Given the description of an element on the screen output the (x, y) to click on. 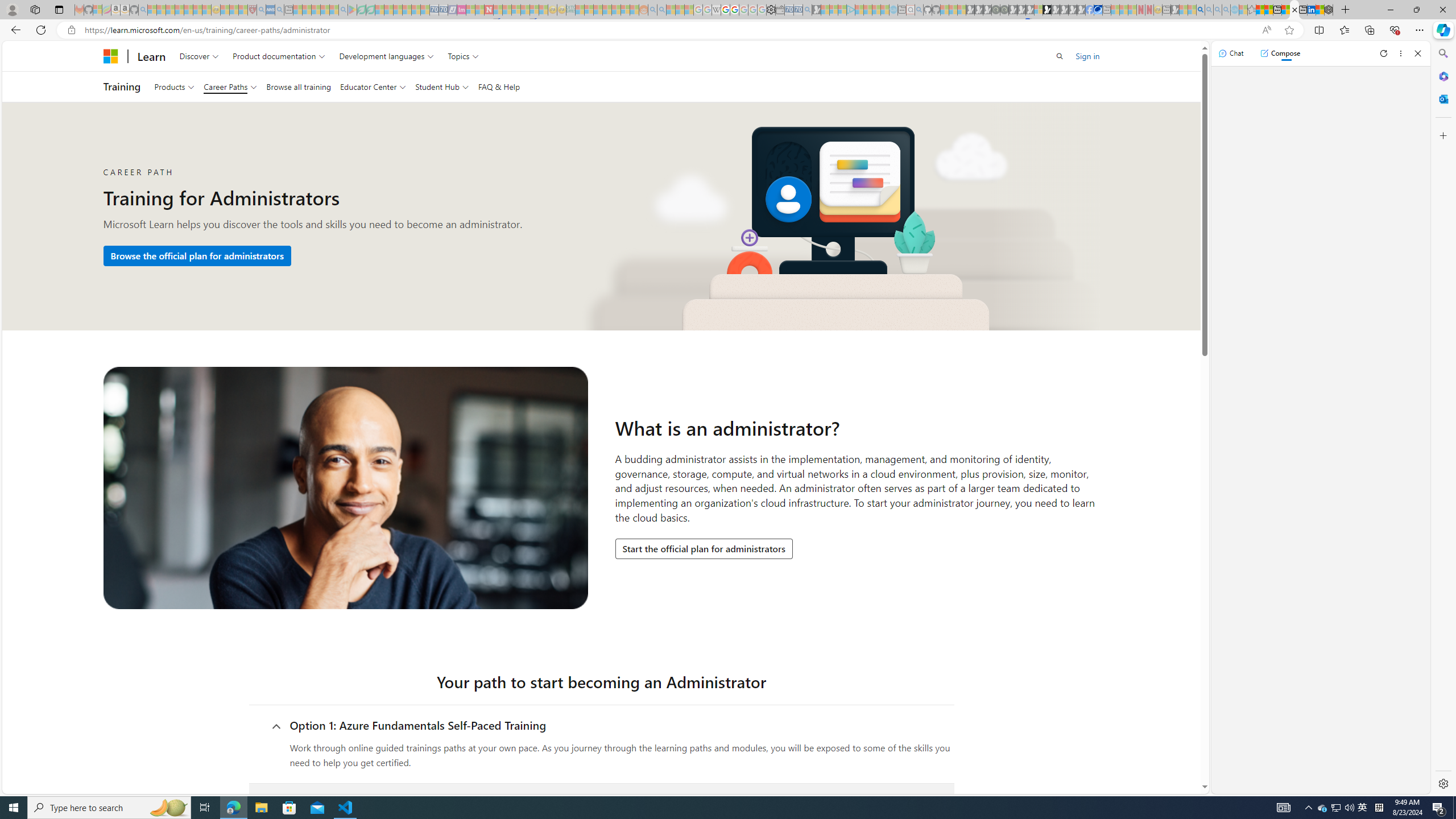
MSN - Sleeping (1174, 9)
Development languages (386, 55)
Image of a person who works as an administrator (345, 487)
Future Focus Report 2024 - Sleeping (1004, 9)
Robert H. Shmerling, MD - Harvard Health - Sleeping (252, 9)
Skip to main content (10, 49)
